Given the description of an element on the screen output the (x, y) to click on. 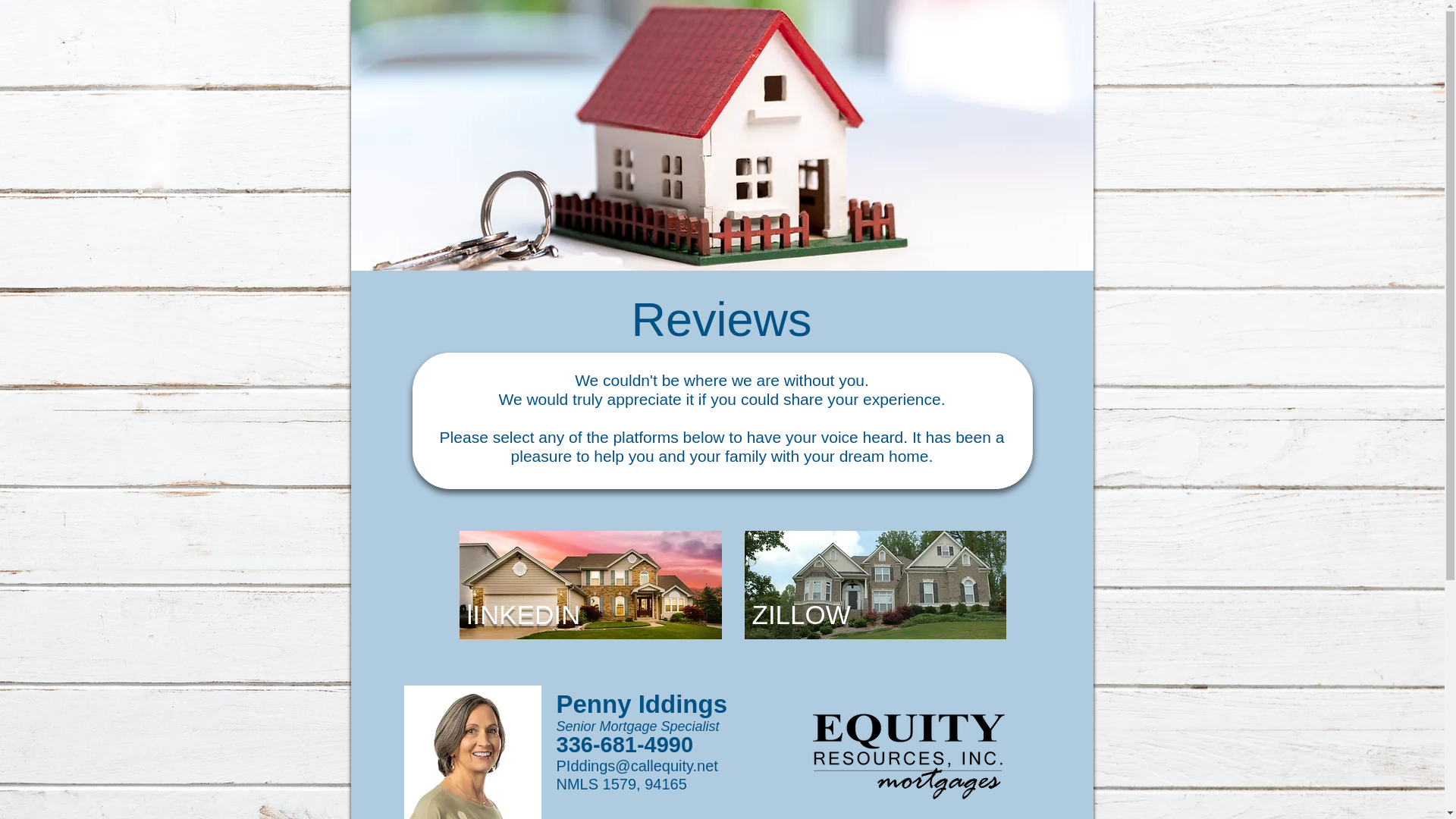
lINKEDIN (523, 614)
ZILLOW (801, 614)
towson.jpg (875, 584)
towson.jpg (591, 584)
